Given the description of an element on the screen output the (x, y) to click on. 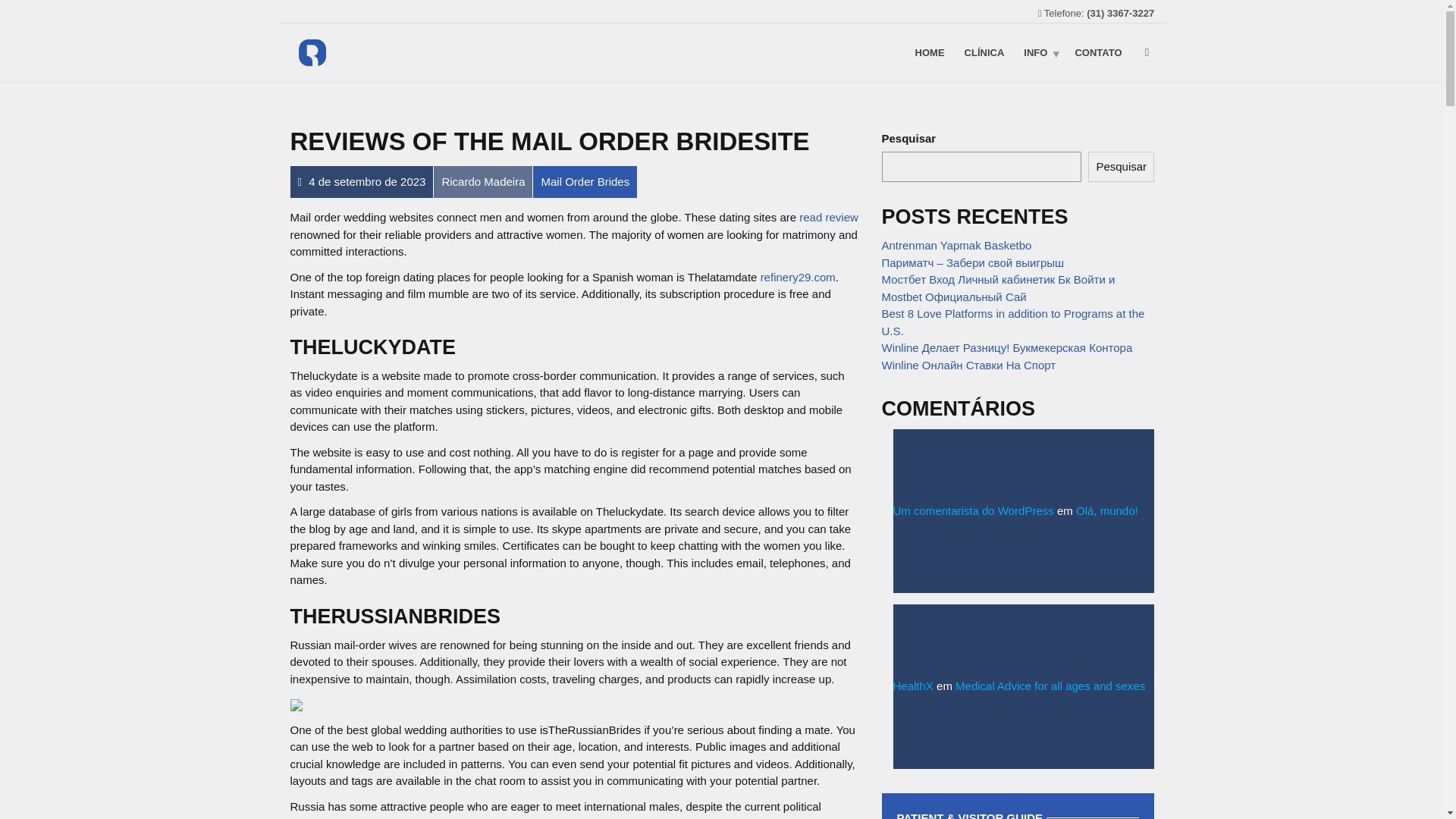
HOME (930, 52)
HealthX (913, 685)
Contato (1097, 52)
View all posts in category: Mail Order Brides (584, 181)
Best 8 Love Platforms in addition to Programs at the U.S. (1012, 322)
Antrenman Yapmak Basketbo (955, 245)
CONTATO (1097, 52)
INFO (1038, 52)
Home (930, 52)
Mail Order Brides (584, 181)
Medical Advice for all ages and sexes (1049, 685)
Info (1038, 52)
Ricardo Madeira (482, 181)
read review (829, 216)
Pesquisar (1120, 166)
